Given the description of an element on the screen output the (x, y) to click on. 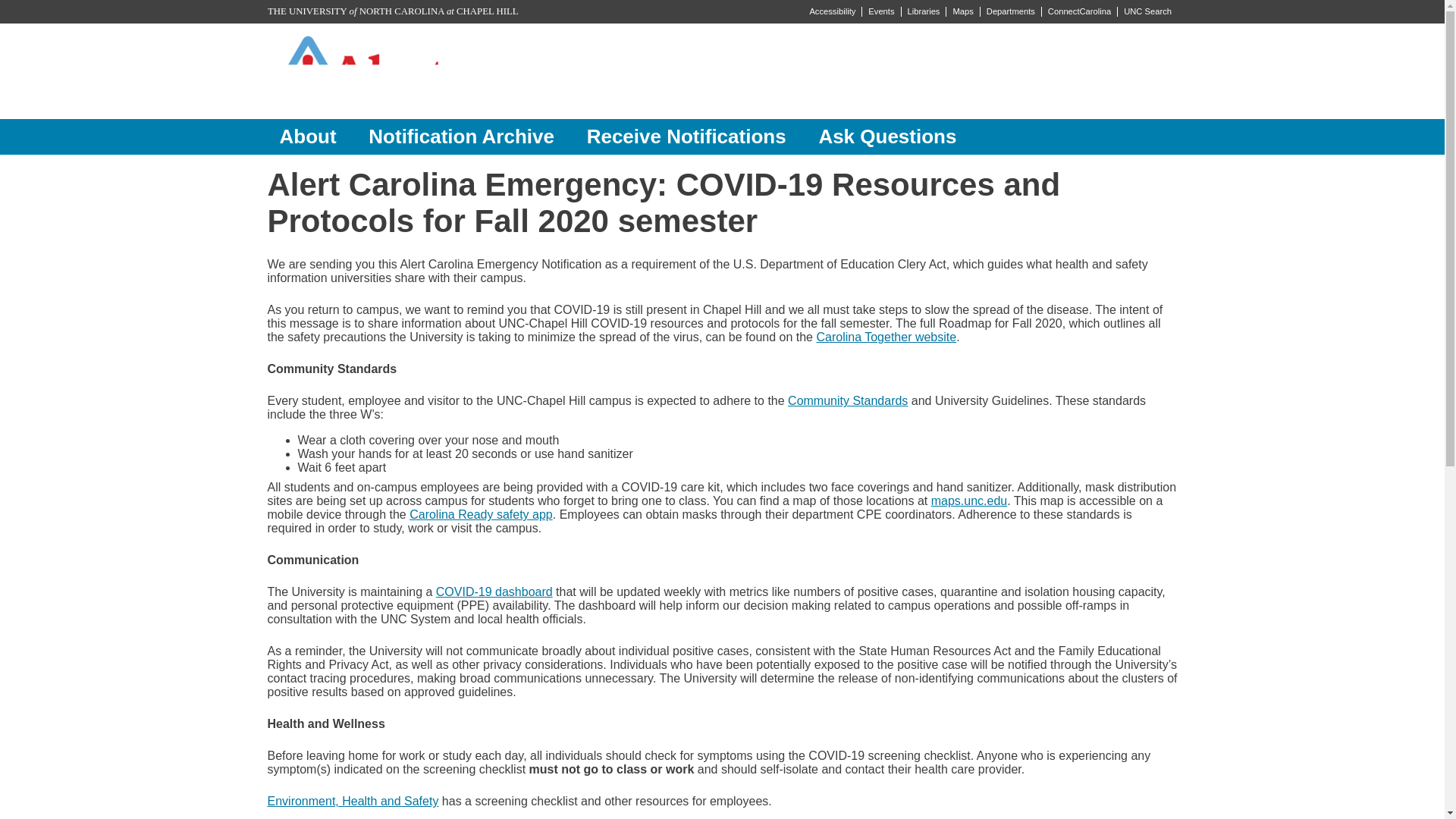
Carolina Ready safety app (481, 513)
Receive Notifications (686, 136)
Departments (1010, 10)
COVID-19 dashboard (494, 591)
Libraries (922, 10)
Notification Archive (461, 136)
UNC Search (1147, 10)
ConnectCarolina (1078, 10)
Events (880, 10)
Carolina Together website (885, 336)
THE UNIVERSITY of NORTH CAROLINA at CHAPEL HILL (392, 10)
Accessibility (832, 10)
Environment, Health and Safety (352, 800)
